Given the description of an element on the screen output the (x, y) to click on. 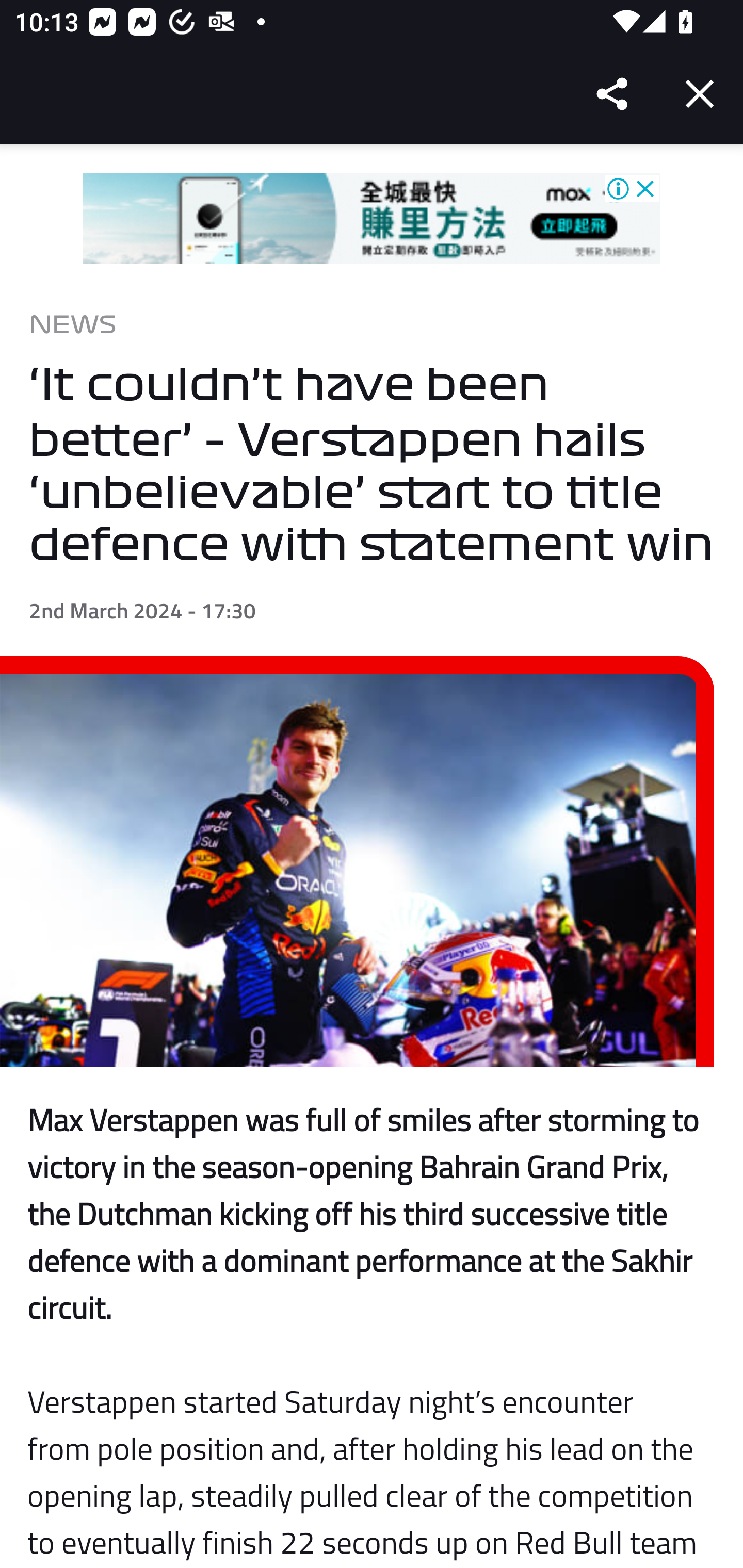
Share (612, 93)
Close (699, 93)
Advertisement (371, 218)
